Given the description of an element on the screen output the (x, y) to click on. 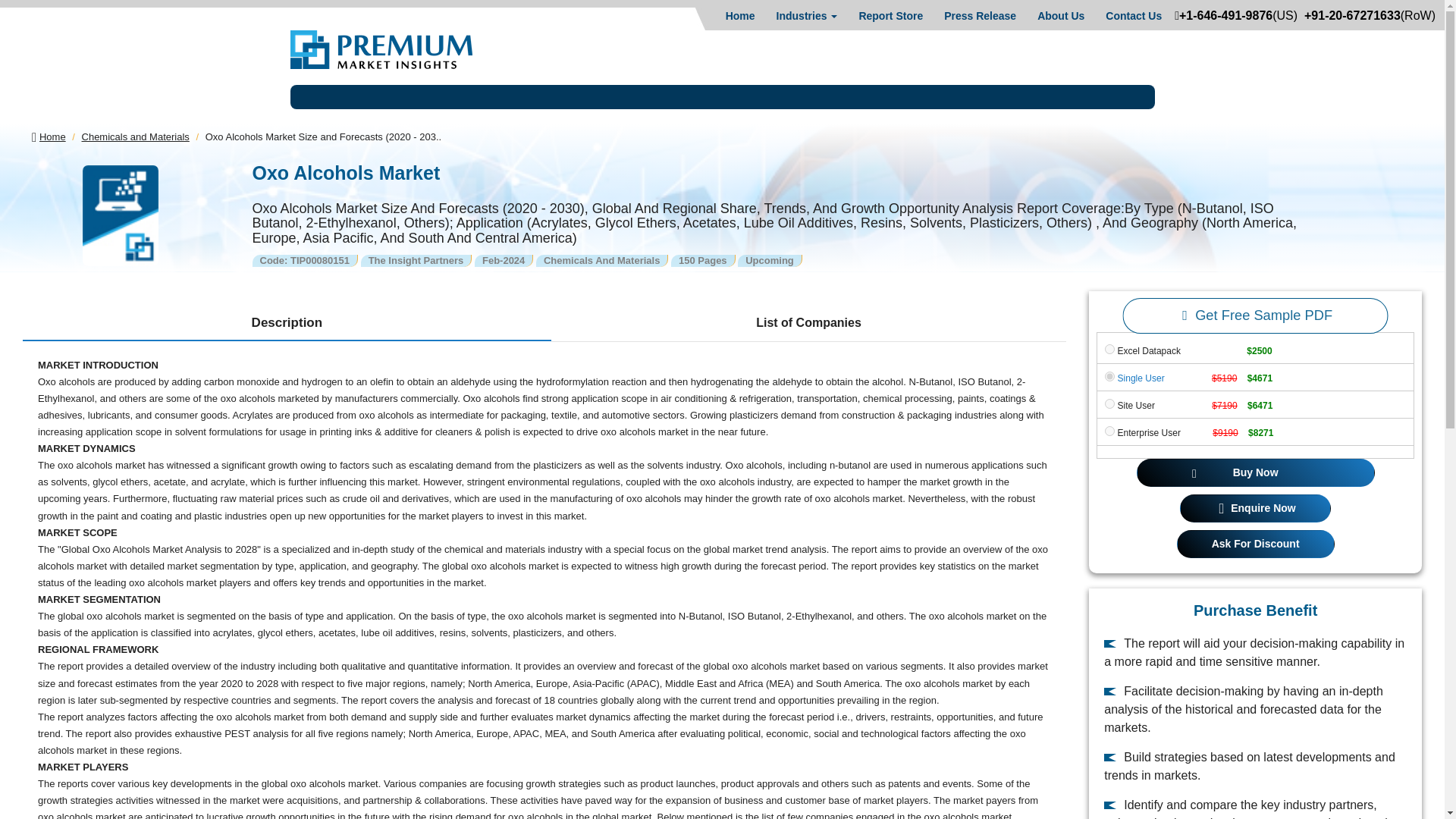
Logo (380, 48)
Contact Us (1133, 15)
Home (740, 15)
Report Store (891, 15)
About Us (1060, 15)
Industries (807, 15)
Buy Now (1255, 472)
Press Release (979, 15)
